Given the description of an element on the screen output the (x, y) to click on. 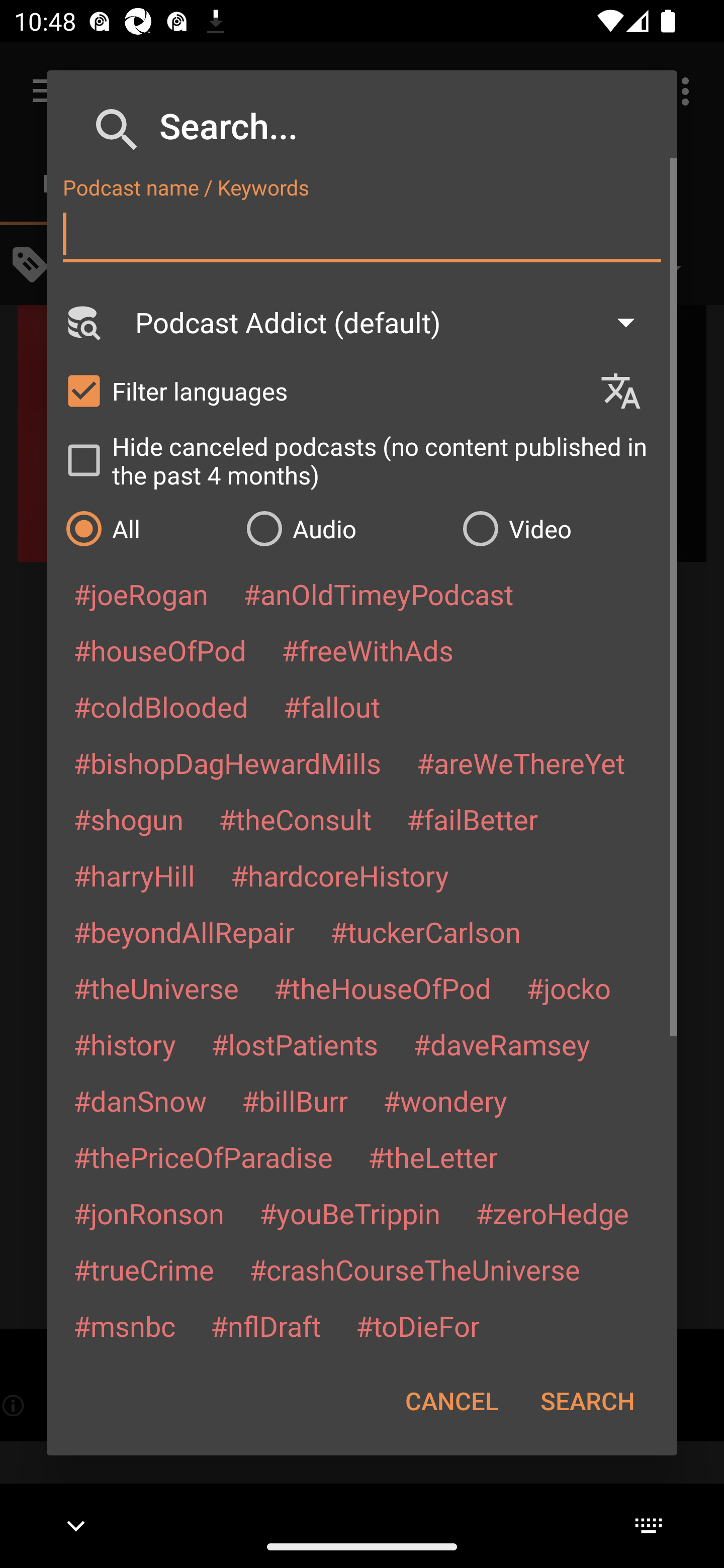
Podcast name / Keywords (361, 234)
Search Engine (82, 322)
Podcast Addict (default) (394, 322)
Languages selection (629, 390)
Filter languages (322, 390)
All (145, 528)
Audio (344, 528)
Video (560, 528)
#joeRogan (140, 594)
#anOldTimeyPodcast (378, 594)
#houseOfPod (159, 650)
#freeWithAds (367, 650)
#coldBlooded (160, 705)
#fallout (331, 705)
#bishopDagHewardMills (227, 762)
#areWeThereYet (521, 762)
#shogun (128, 818)
#theConsult (294, 818)
#failBetter (471, 818)
#harryHill (134, 875)
#hardcoreHistory (339, 875)
#beyondAllRepair (184, 931)
#tuckerCarlson (425, 931)
#theUniverse (155, 987)
#theHouseOfPod (381, 987)
#jocko (568, 987)
#history (124, 1044)
#lostPatients (294, 1044)
#daveRamsey (501, 1044)
#danSnow (139, 1100)
#billBurr (294, 1100)
#wondery (444, 1100)
#thePriceOfParadise (203, 1157)
#theLetter (432, 1157)
#jonRonson (148, 1213)
#youBeTrippin (349, 1213)
#zeroHedge (552, 1213)
#trueCrime (143, 1268)
#crashCourseTheUniverse (414, 1268)
#msnbc (124, 1325)
#nflDraft (265, 1325)
#toDieFor (417, 1325)
CANCEL (451, 1400)
SEARCH (587, 1400)
